Given the description of an element on the screen output the (x, y) to click on. 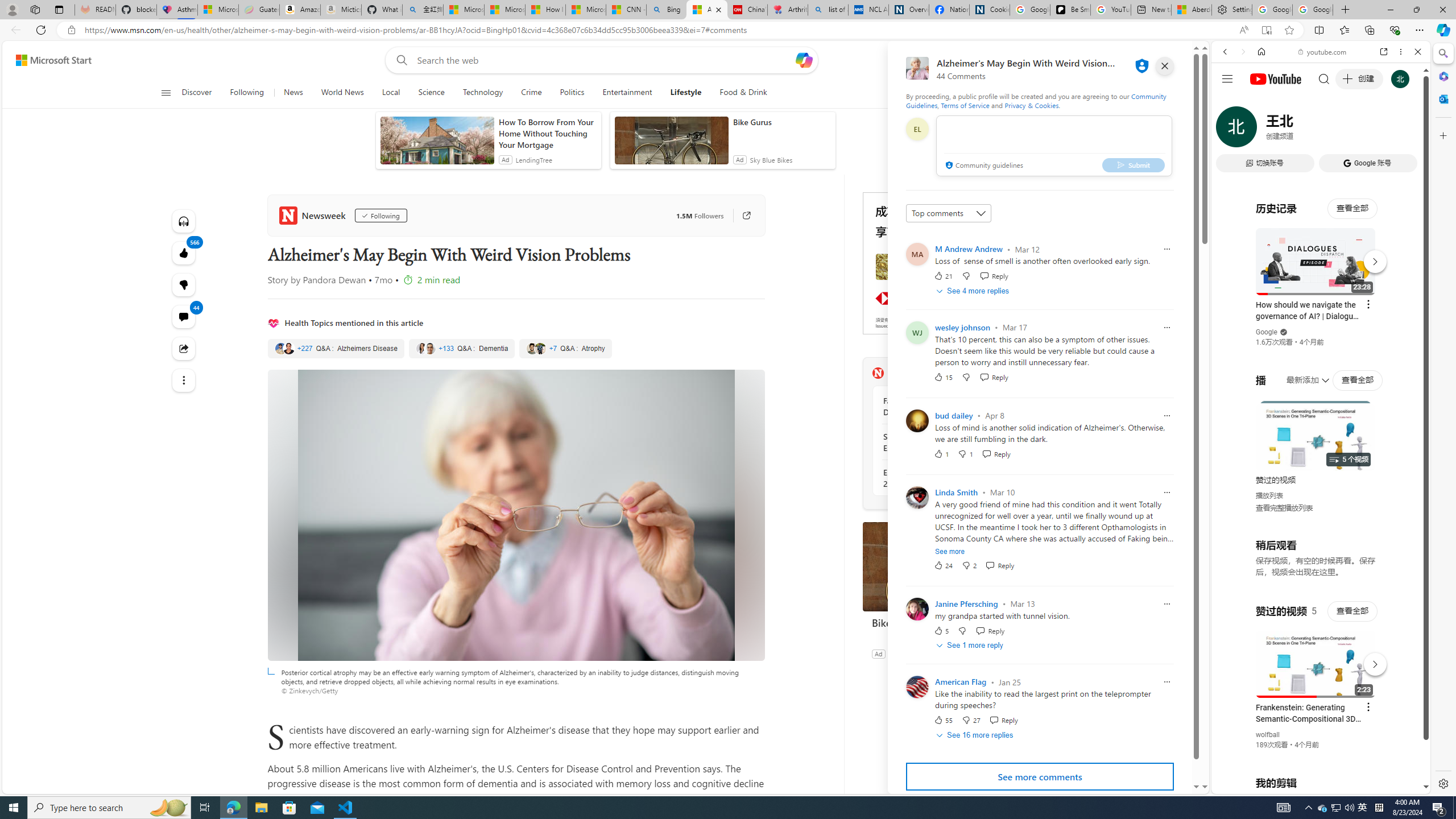
15 Like (942, 376)
Close Outlook pane (1442, 98)
Dementia (461, 348)
Settings (1231, 9)
See 1 more reply (971, 645)
Submit (1133, 164)
Arthritis: Ask Health Professionals (787, 9)
World News (341, 92)
Actions for this site (1371, 661)
Go to publisher's site (740, 215)
See more (949, 550)
list of asthma inhalers uk - Search (828, 9)
